Given the description of an element on the screen output the (x, y) to click on. 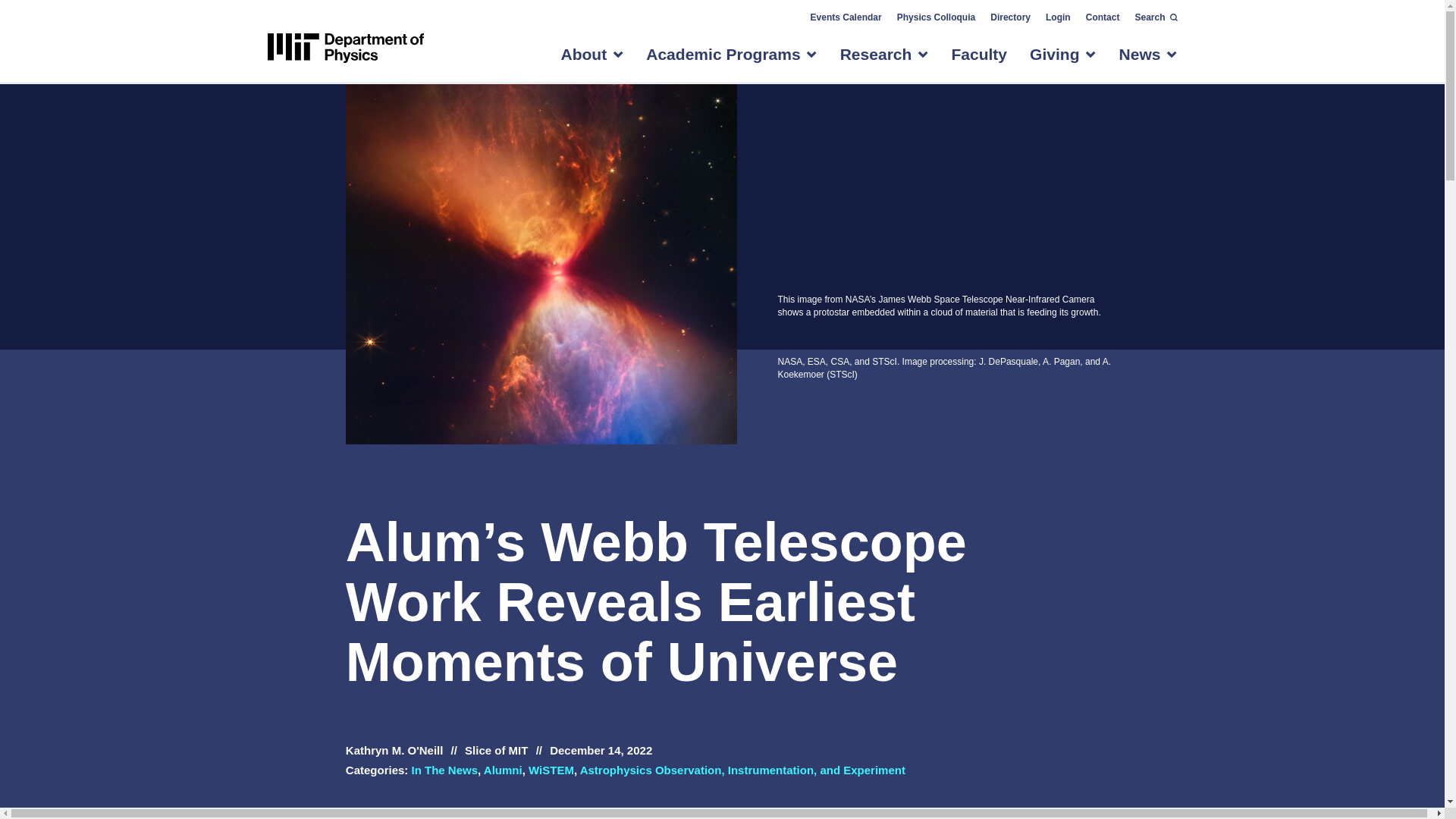
Academic Programs (722, 60)
Directory (1010, 17)
About (583, 60)
Login (1058, 17)
Physics Colloquia (936, 17)
Contact (1102, 17)
Events Calendar (845, 17)
Search (1151, 17)
MIT Physics (344, 48)
